Given the description of an element on the screen output the (x, y) to click on. 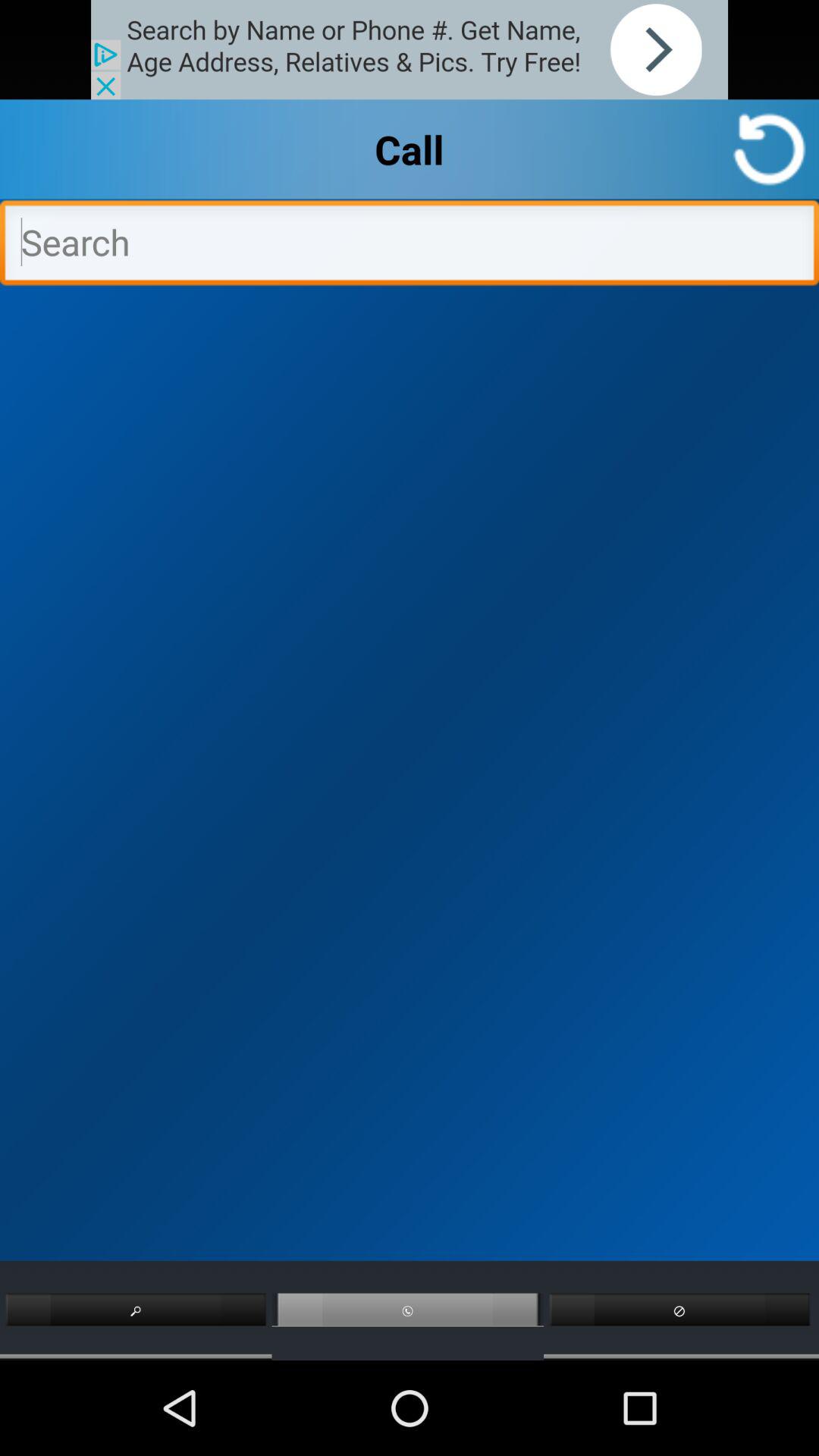
this option advertisement (409, 49)
